Given the description of an element on the screen output the (x, y) to click on. 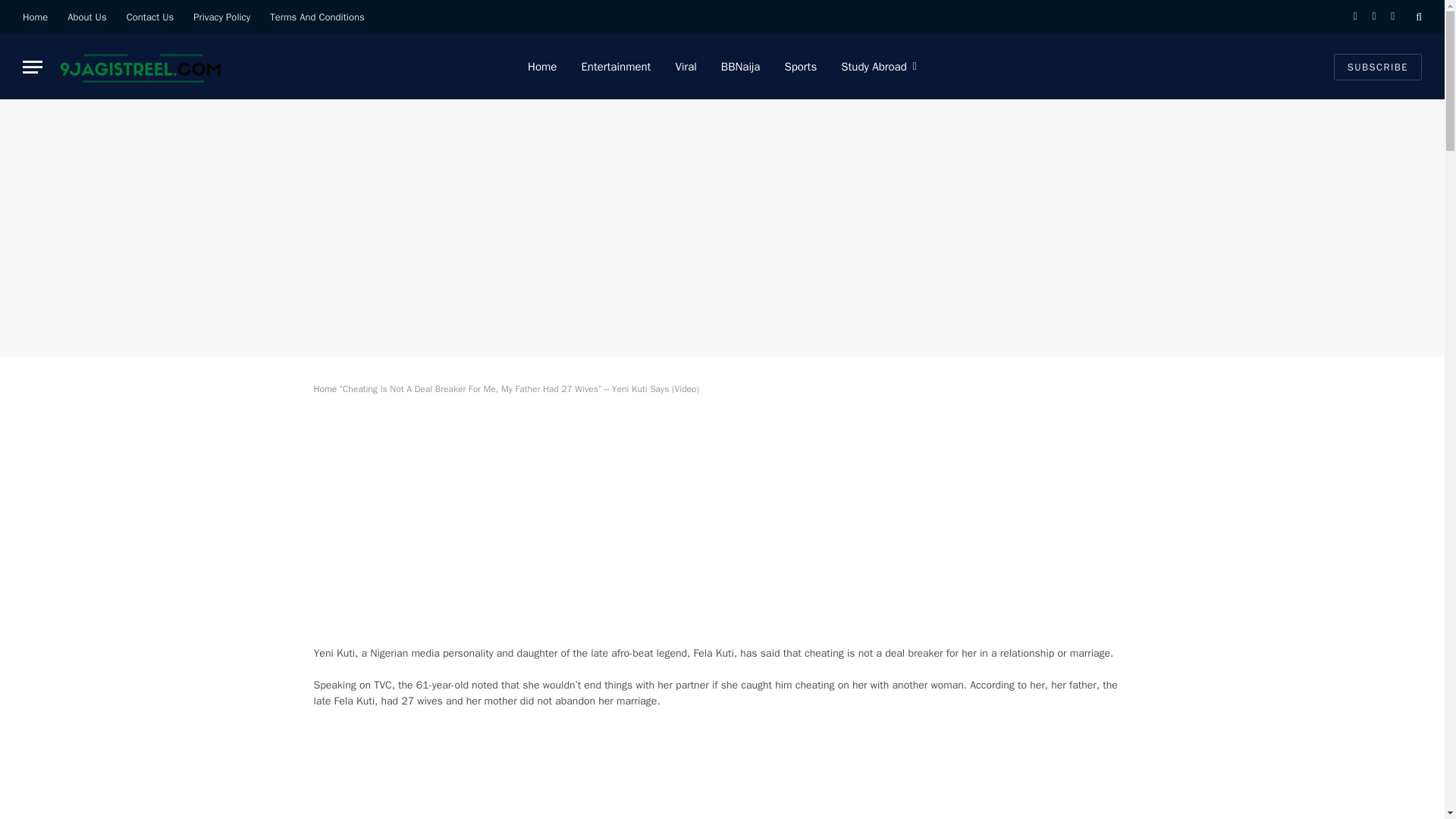
9JaGistreel.com (138, 66)
About Us (87, 17)
Terms And Conditions (317, 17)
Advertisement (722, 775)
Home (35, 17)
Study Abroad (878, 66)
Entertainment (615, 66)
Home (325, 388)
BBNaija (741, 66)
